Given the description of an element on the screen output the (x, y) to click on. 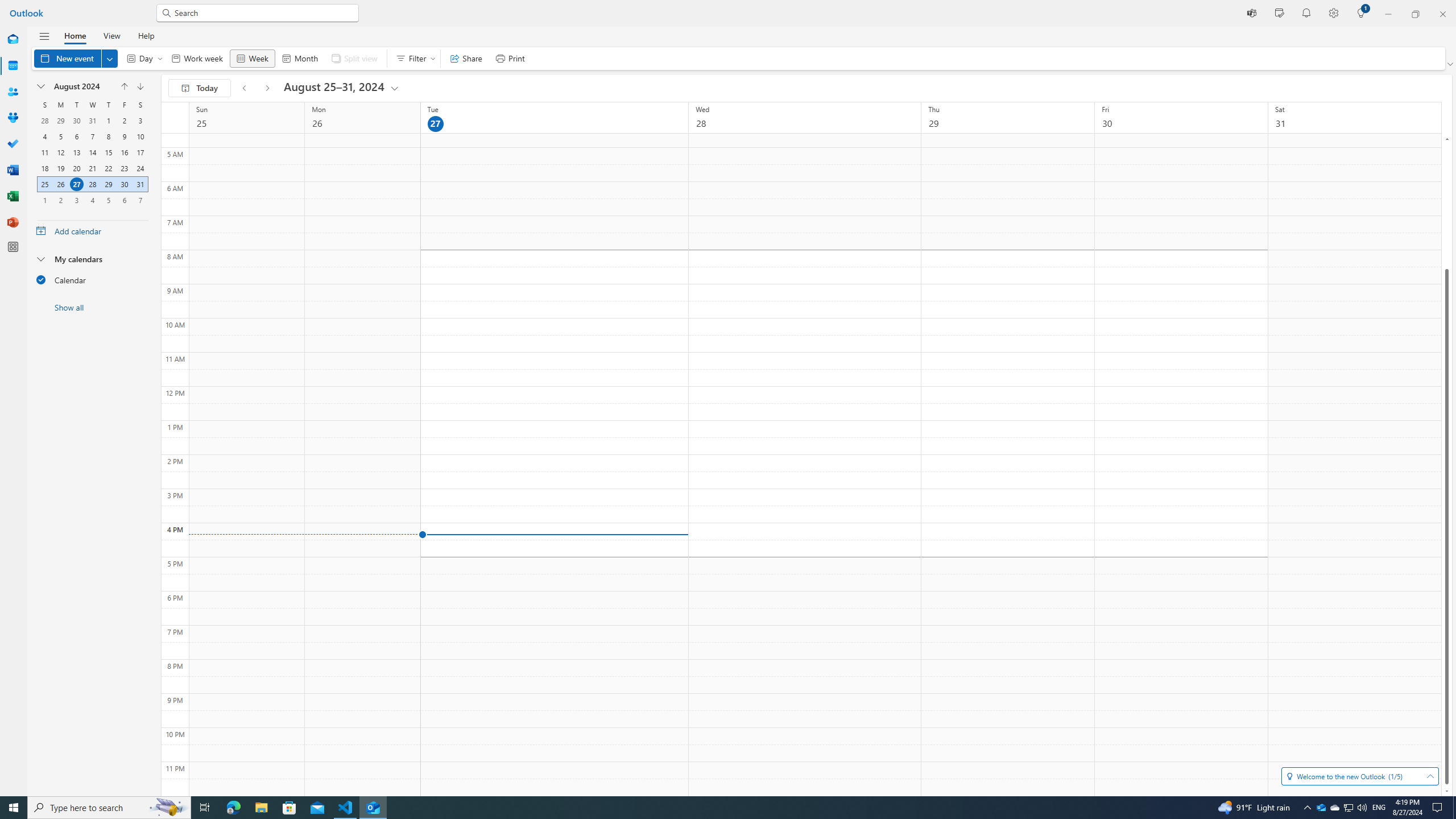
System Promoted Notification Area (1320, 807)
More options (175, 117)
31, August, 2024 (140, 184)
System (6, 6)
1, August, 2024 (108, 120)
Go to previous month July (124, 86)
PowerPoint (12, 222)
Saturday (140, 104)
1, September, 2024 (44, 200)
My calendarsCalendar (92, 272)
29, July, 2024 (60, 120)
To Do (12, 143)
3, August, 2024 (140, 120)
